Given the description of an element on the screen output the (x, y) to click on. 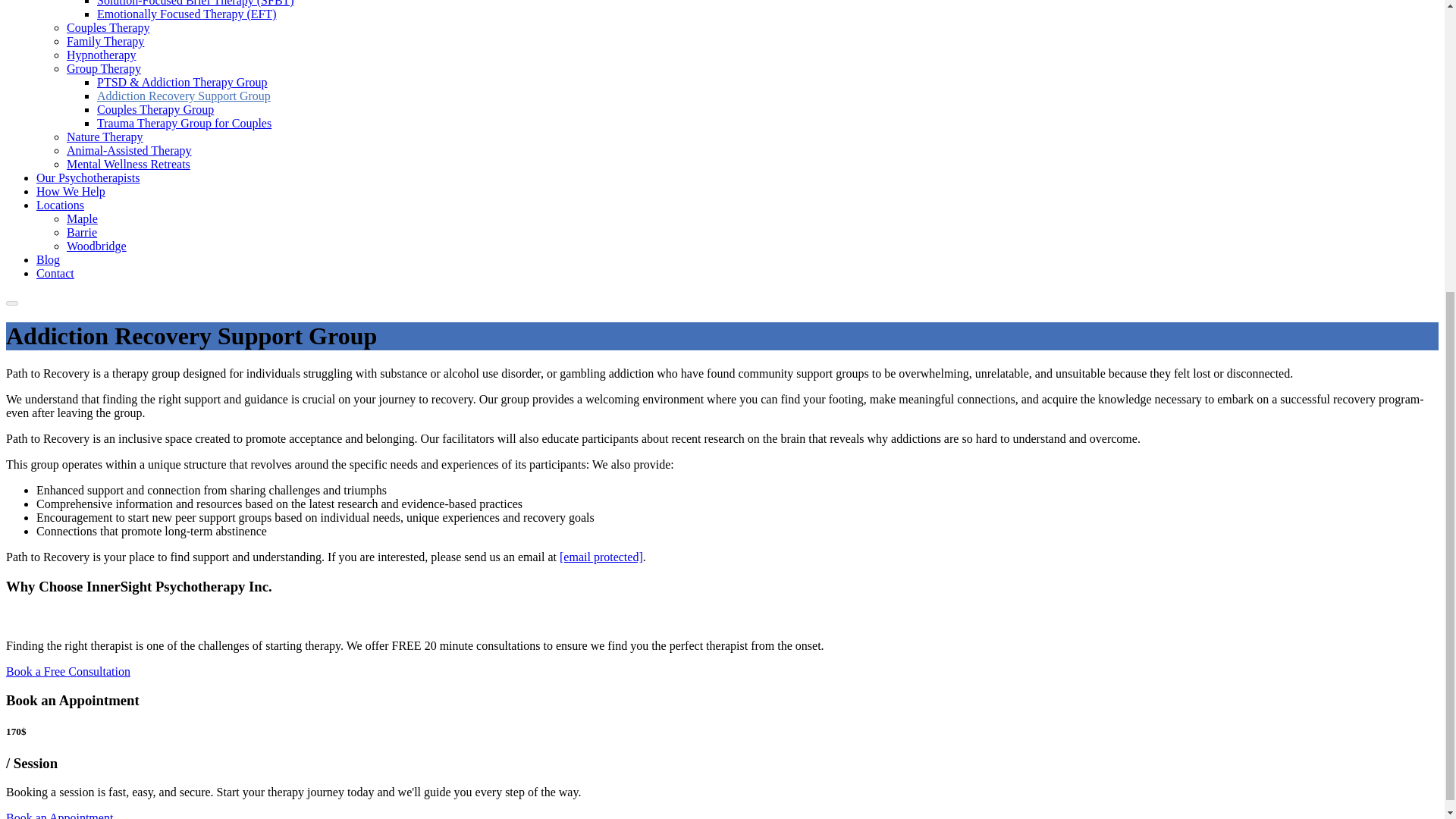
Hypnotherapy (101, 54)
Couples Therapy (107, 27)
Family Therapy (105, 41)
Group Therapy (103, 68)
